Given the description of an element on the screen output the (x, y) to click on. 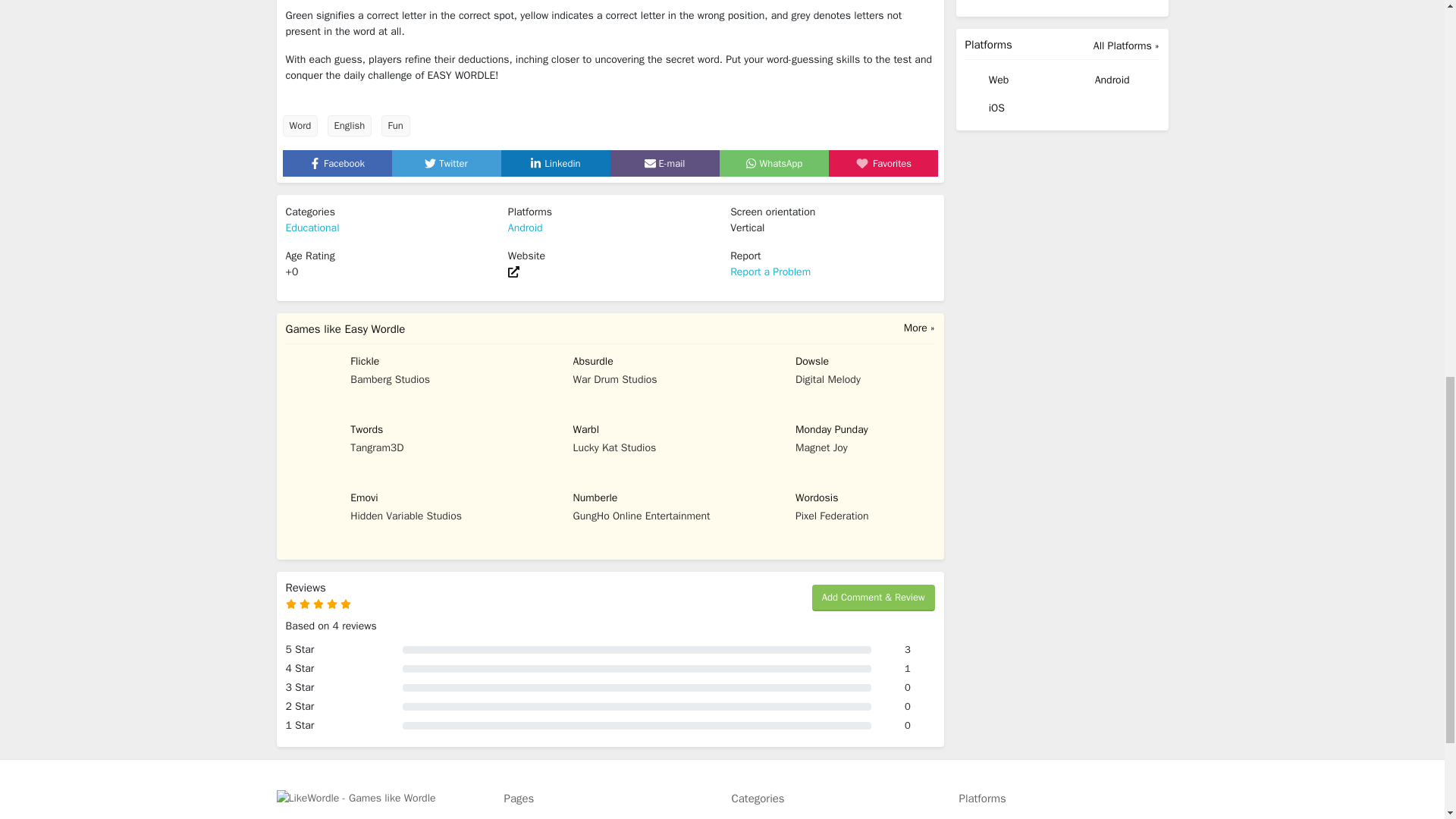
Linkedin (554, 162)
Facebook (336, 162)
E-mail (665, 162)
Word (299, 125)
English (349, 125)
Fun (394, 125)
Twitter (446, 162)
Android (525, 227)
Educational (312, 227)
WhatsApp (774, 162)
Report a Problem (770, 271)
